Given the description of an element on the screen output the (x, y) to click on. 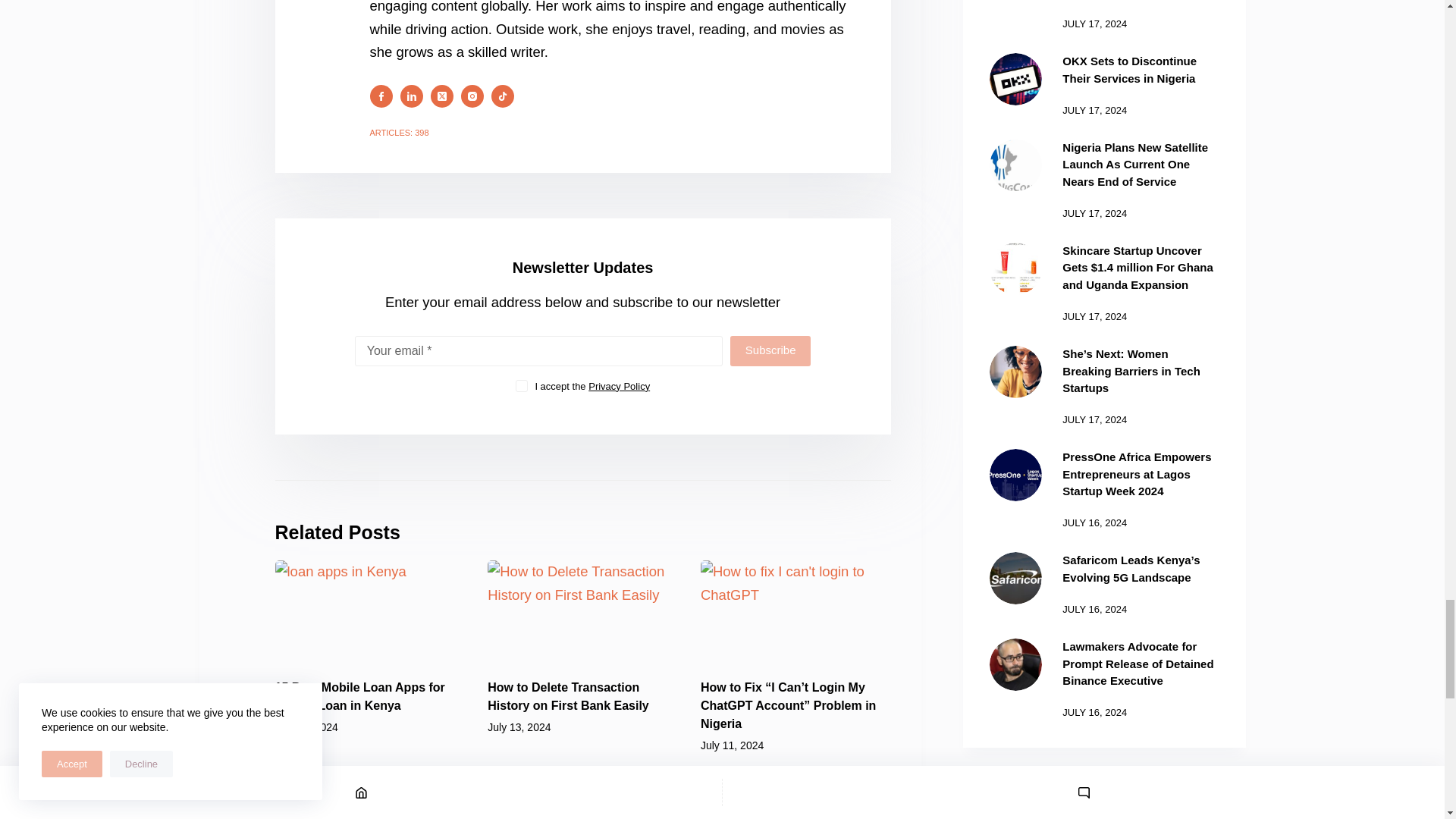
on (521, 386)
